Given the description of an element on the screen output the (x, y) to click on. 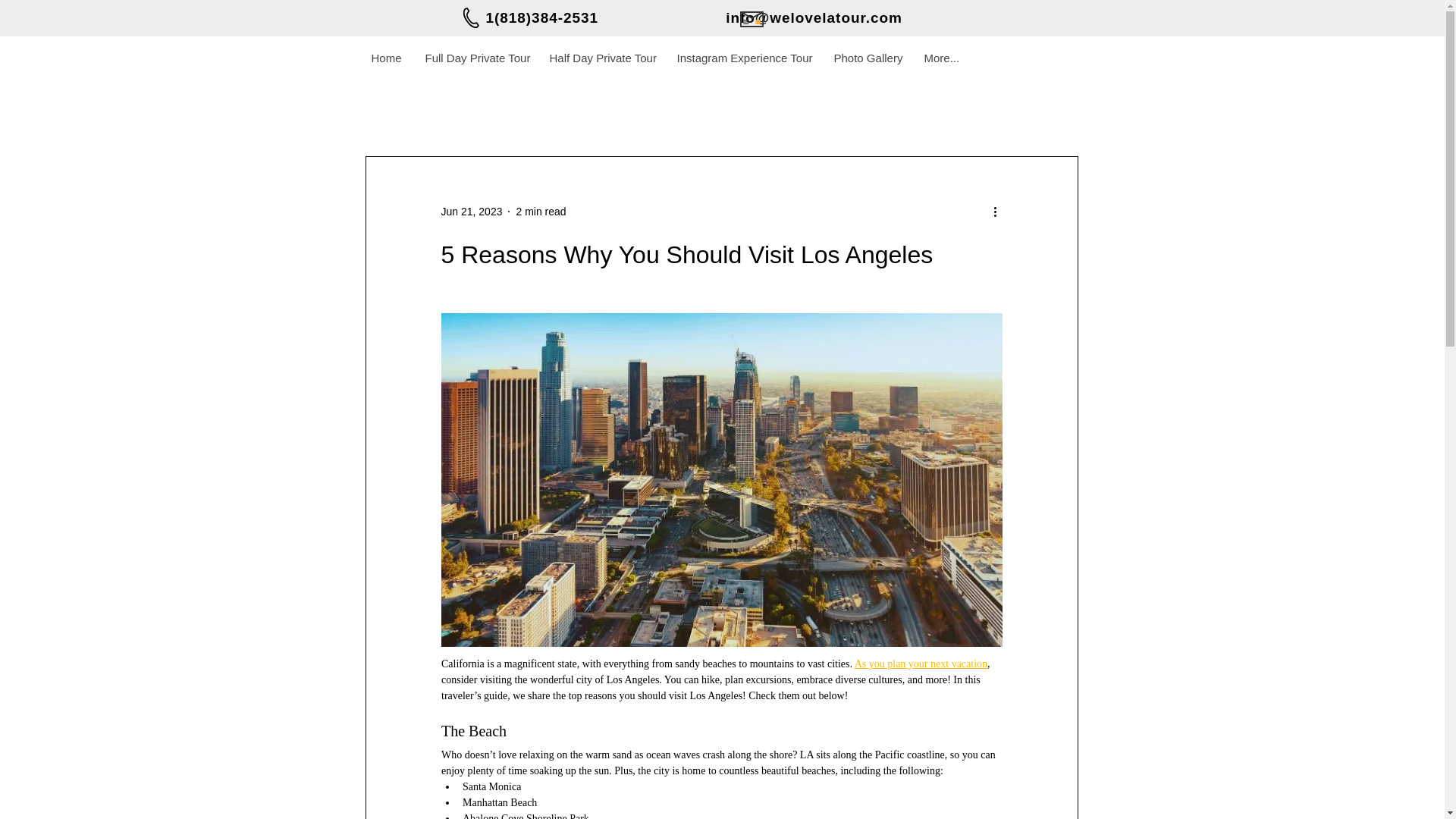
2 min read (540, 210)
Home (385, 57)
Jun 21, 2023 (471, 210)
Instagram Experience Tour (742, 57)
Full Day Private Tour (474, 57)
Photo Gallery (867, 57)
As you plan your next vacation (920, 663)
Half Day Private Tour (600, 57)
